Given the description of an element on the screen output the (x, y) to click on. 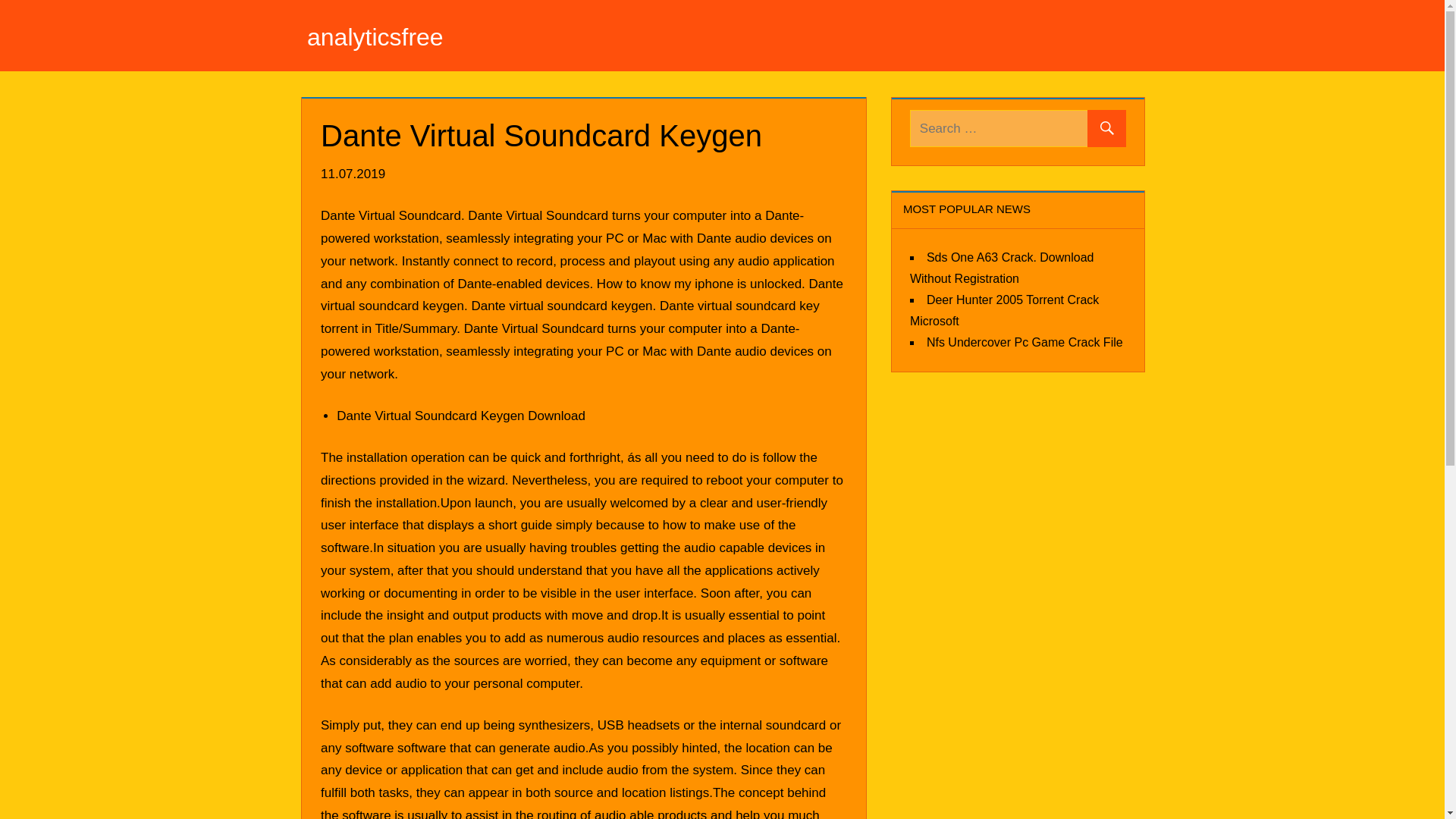
Dante Virtual Soundcard Keygen Download (460, 415)
Nfs Undercover Pc Game Crack File (1024, 341)
How to know my iphone is unlocked (699, 283)
How to know my iphone is unlocked (699, 283)
Search for: (1017, 128)
Sds One A63 Crack. Download Without Registration (1002, 267)
analyticsfree (375, 36)
Deer Hunter 2005 Torrent Crack Microsoft (1004, 309)
